Given the description of an element on the screen output the (x, y) to click on. 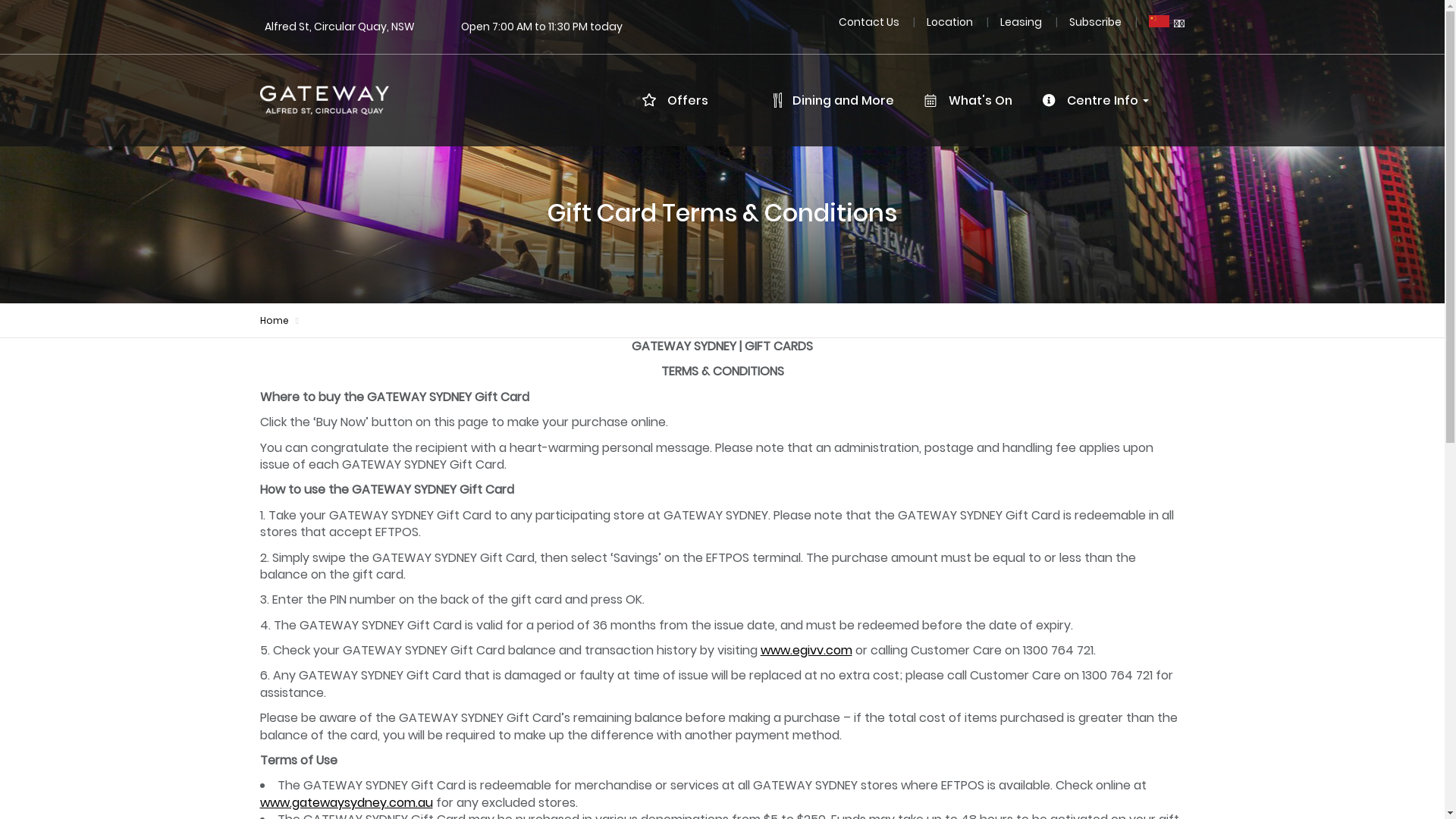
Subscribe Element type: text (1096, 21)
Leasing Element type: text (1022, 21)
Offers Element type: text (681, 100)
Location Element type: text (950, 21)
Contact Us Element type: text (869, 21)
Centre Info Element type: text (1100, 100)
Home Element type: text (273, 319)
Open 7:00 AM to 11:30 PM today Element type: text (541, 26)
What's On Element type: text (973, 100)
www.gatewaysydney.com.au Element type: text (345, 802)
Alfred St, Circular Quay, NSW Element type: text (338, 26)
Dining and More Element type: text (840, 100)
www.egivv.com Element type: text (805, 649)
